Given the description of an element on the screen output the (x, y) to click on. 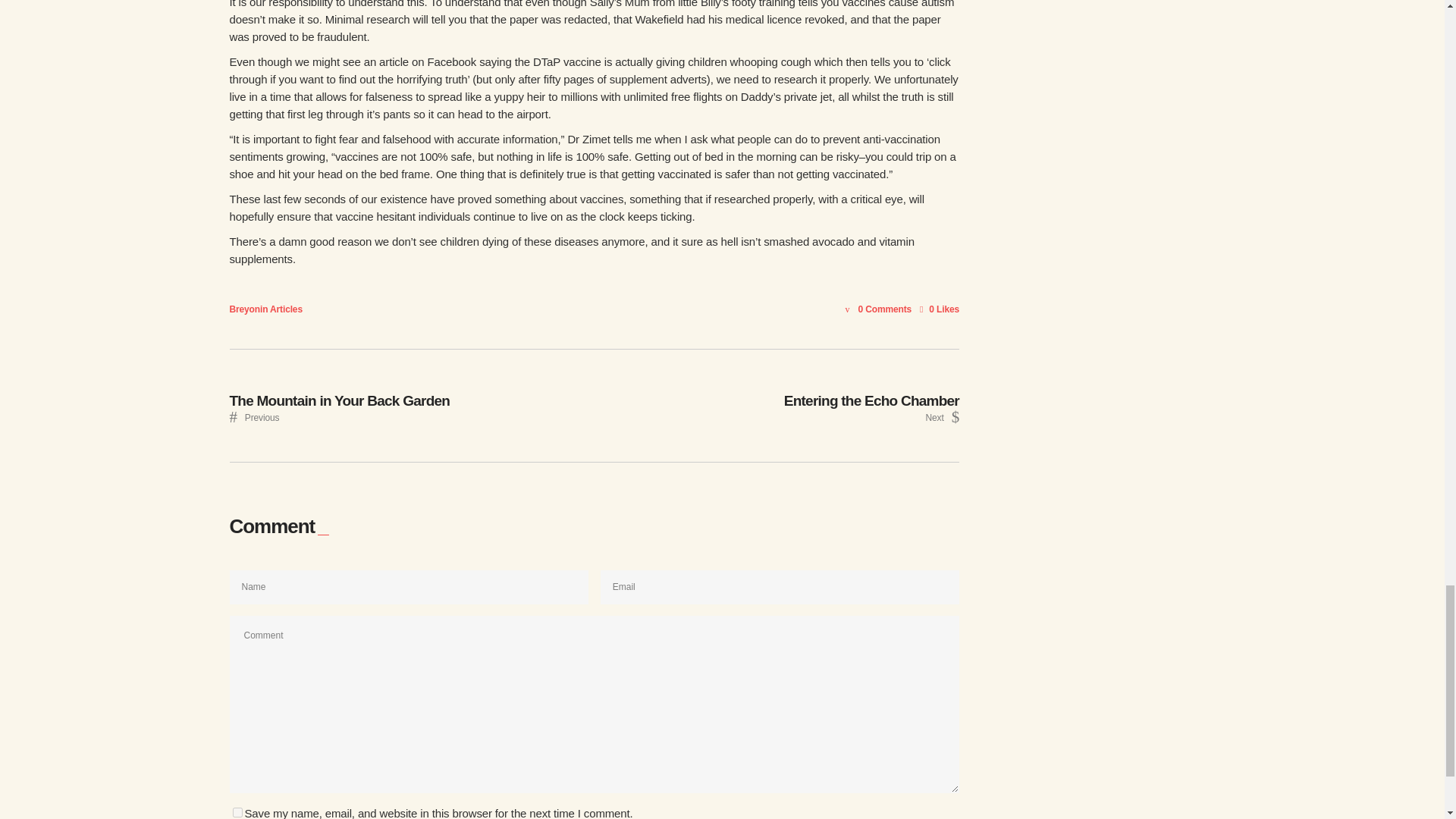
yes (236, 812)
Articles (776, 405)
Breyon (285, 308)
0 Comments (243, 308)
0 Likes (881, 308)
Like this (411, 405)
